Given the description of an element on the screen output the (x, y) to click on. 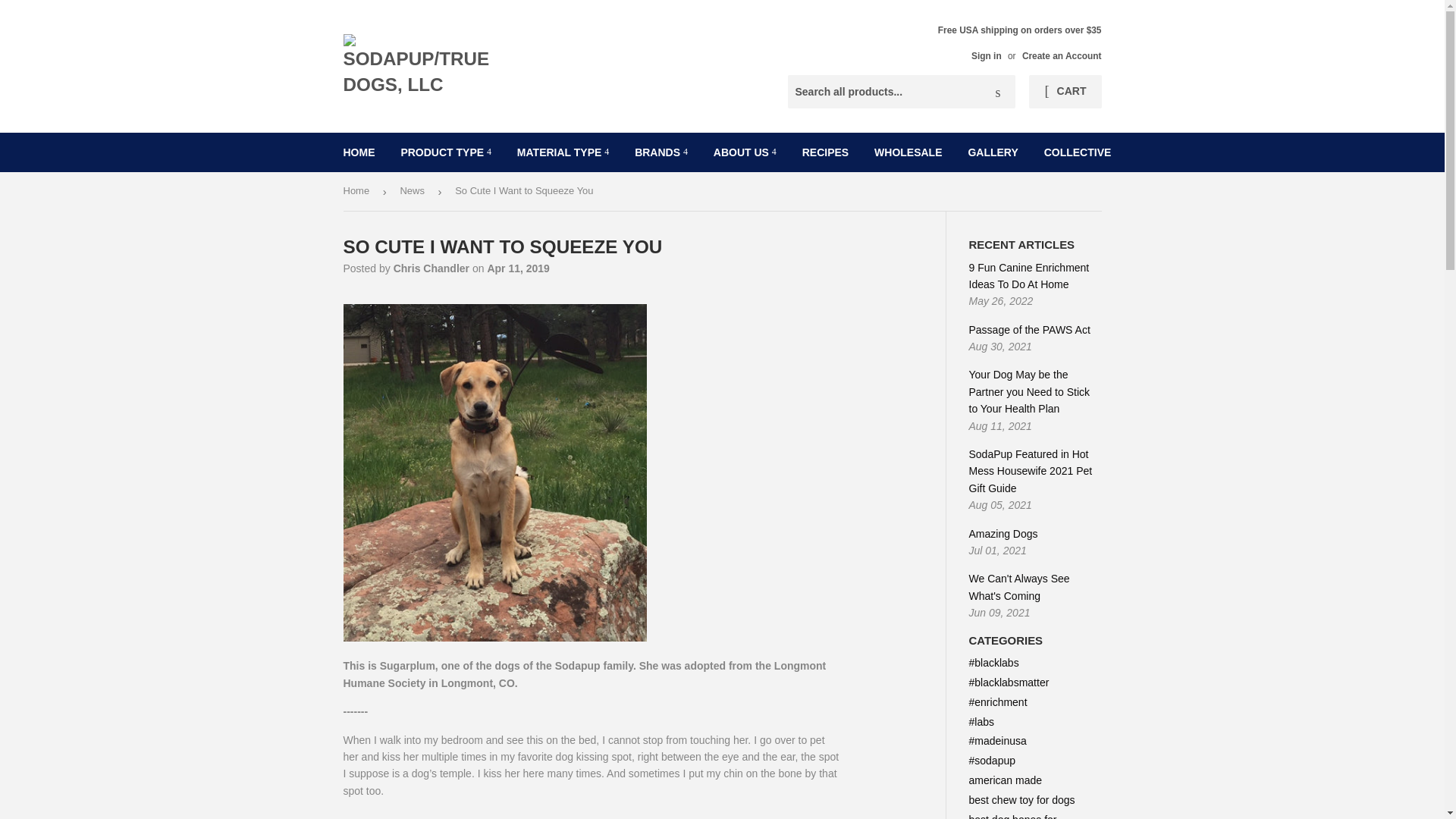
MATERIAL TYPE (562, 151)
Search (997, 92)
BRANDS (660, 151)
Sign in (986, 55)
Create an Account (1062, 55)
Show articles tagged best dog bones for aggresive chwers (1013, 816)
CART (1064, 91)
Show articles tagged american made (1005, 779)
ABOUT US (744, 151)
Show articles tagged best chew toy for dogs (1022, 799)
